Given the description of an element on the screen output the (x, y) to click on. 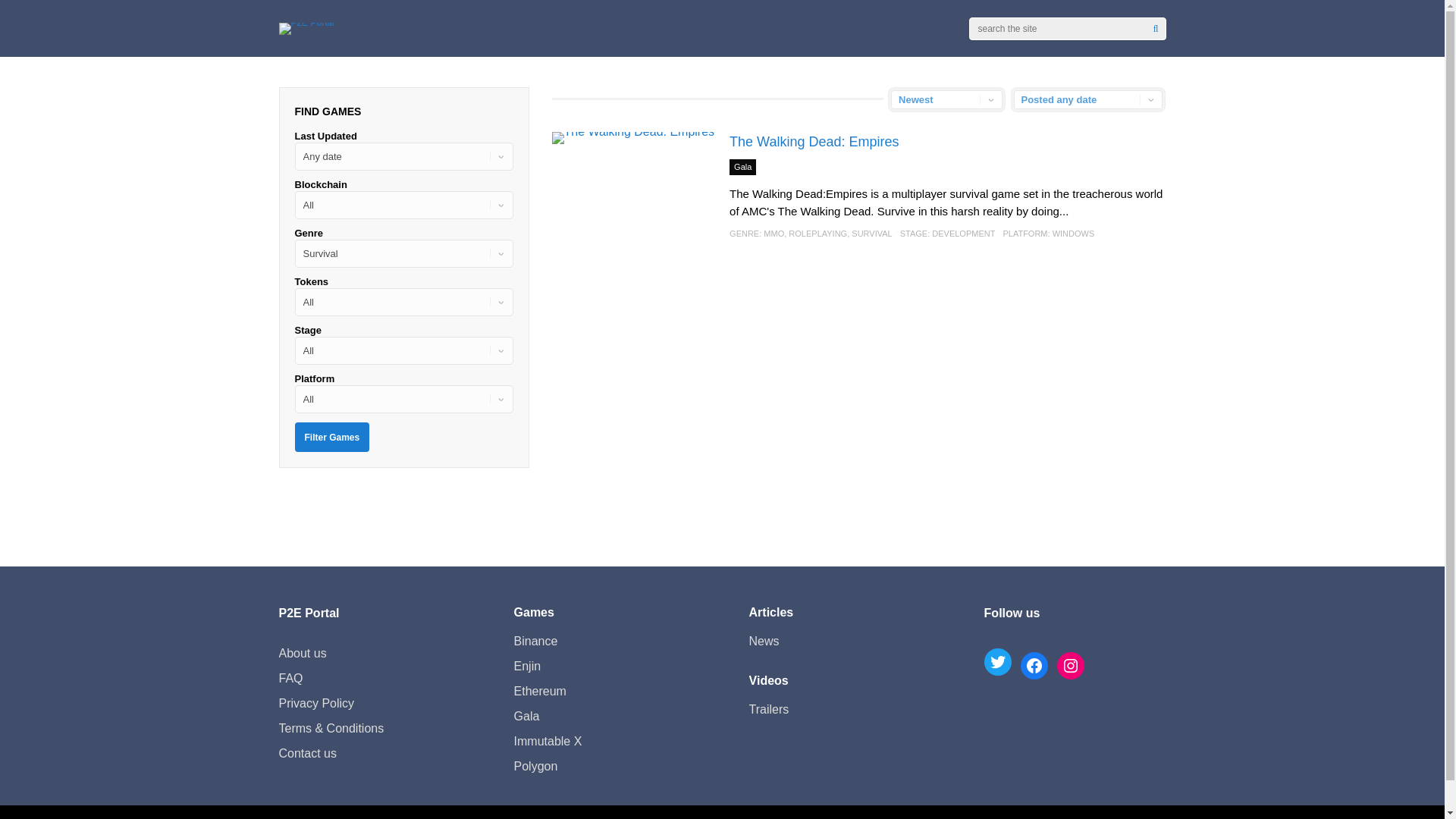
P2E Portal (306, 21)
The Walking Dead: Empires (813, 141)
Gala (742, 166)
Filter Games (331, 437)
ROLEPLAYING (818, 233)
MMO (773, 233)
SURVIVAL (871, 233)
